Given the description of an element on the screen output the (x, y) to click on. 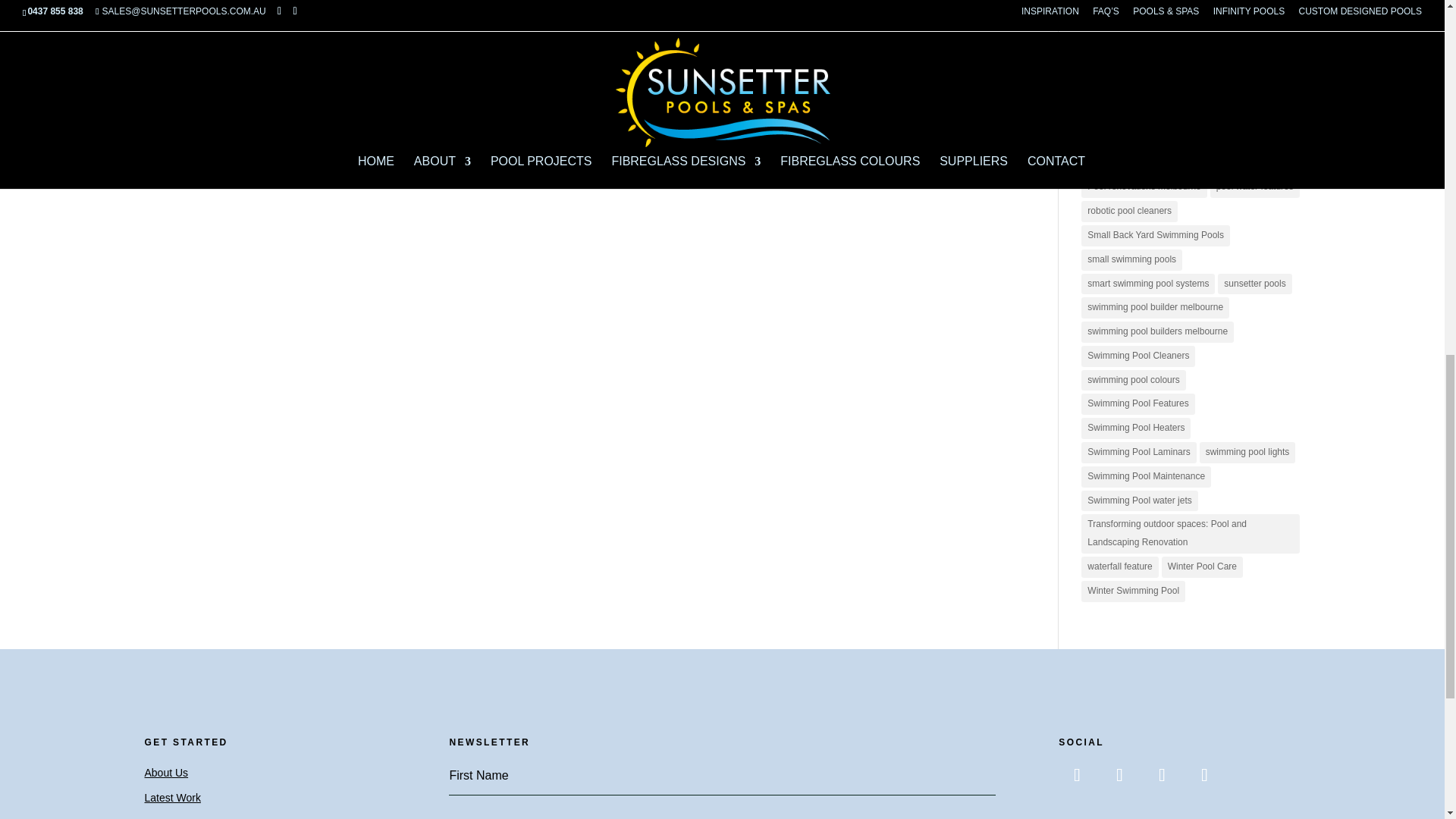
Follow on Facebook (1076, 774)
Follow on Pinterest (1160, 774)
Follow on Instagram (1118, 774)
Follow on Google (1204, 774)
